Given the description of an element on the screen output the (x, y) to click on. 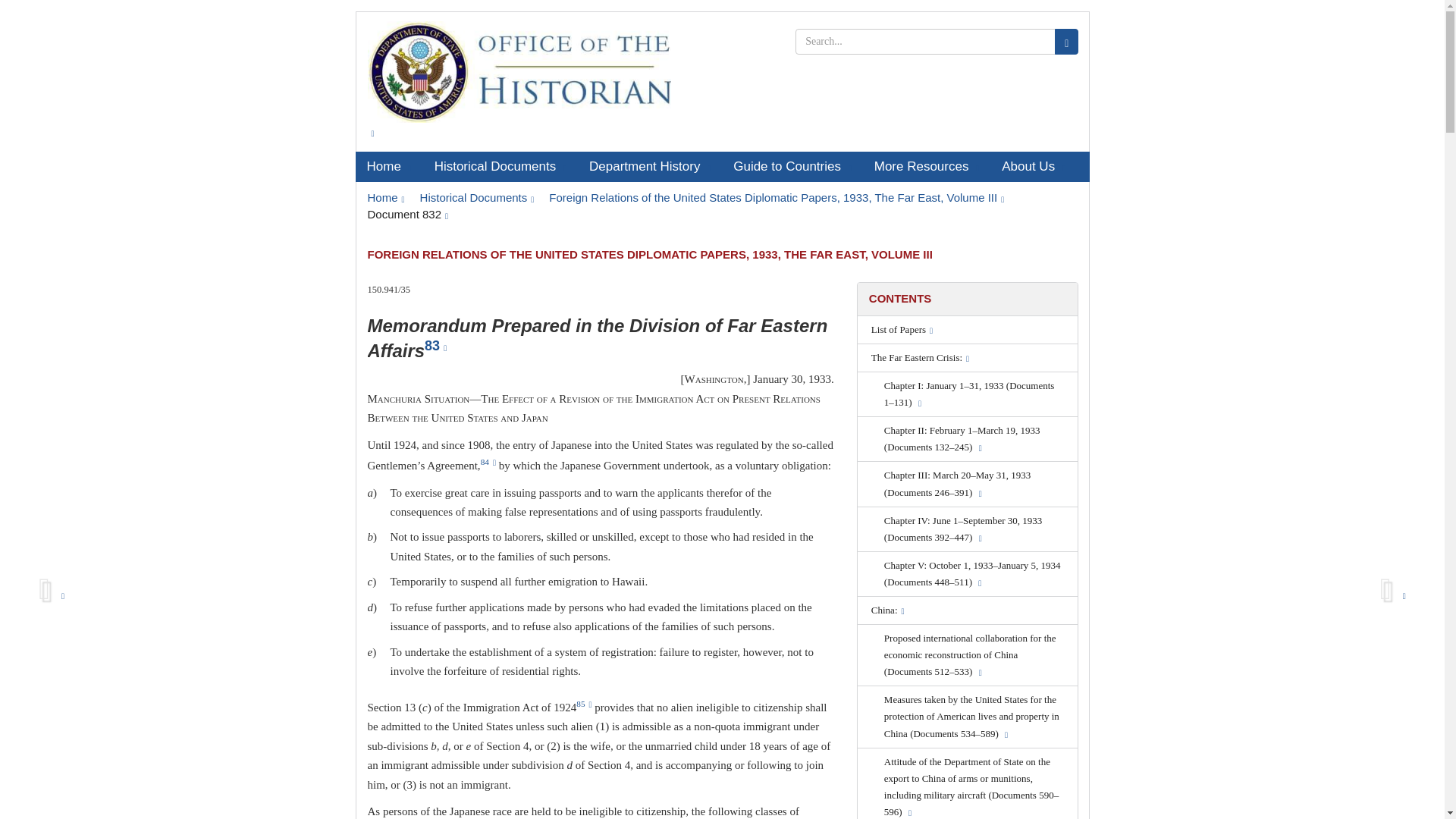
Historical Documents (477, 196)
More Resources (926, 166)
Department History (650, 166)
Historical Documents (500, 166)
Document 832 (407, 214)
About Us (1033, 166)
Home (388, 166)
Guide to Countries (792, 166)
Home (385, 196)
